Given the description of an element on the screen output the (x, y) to click on. 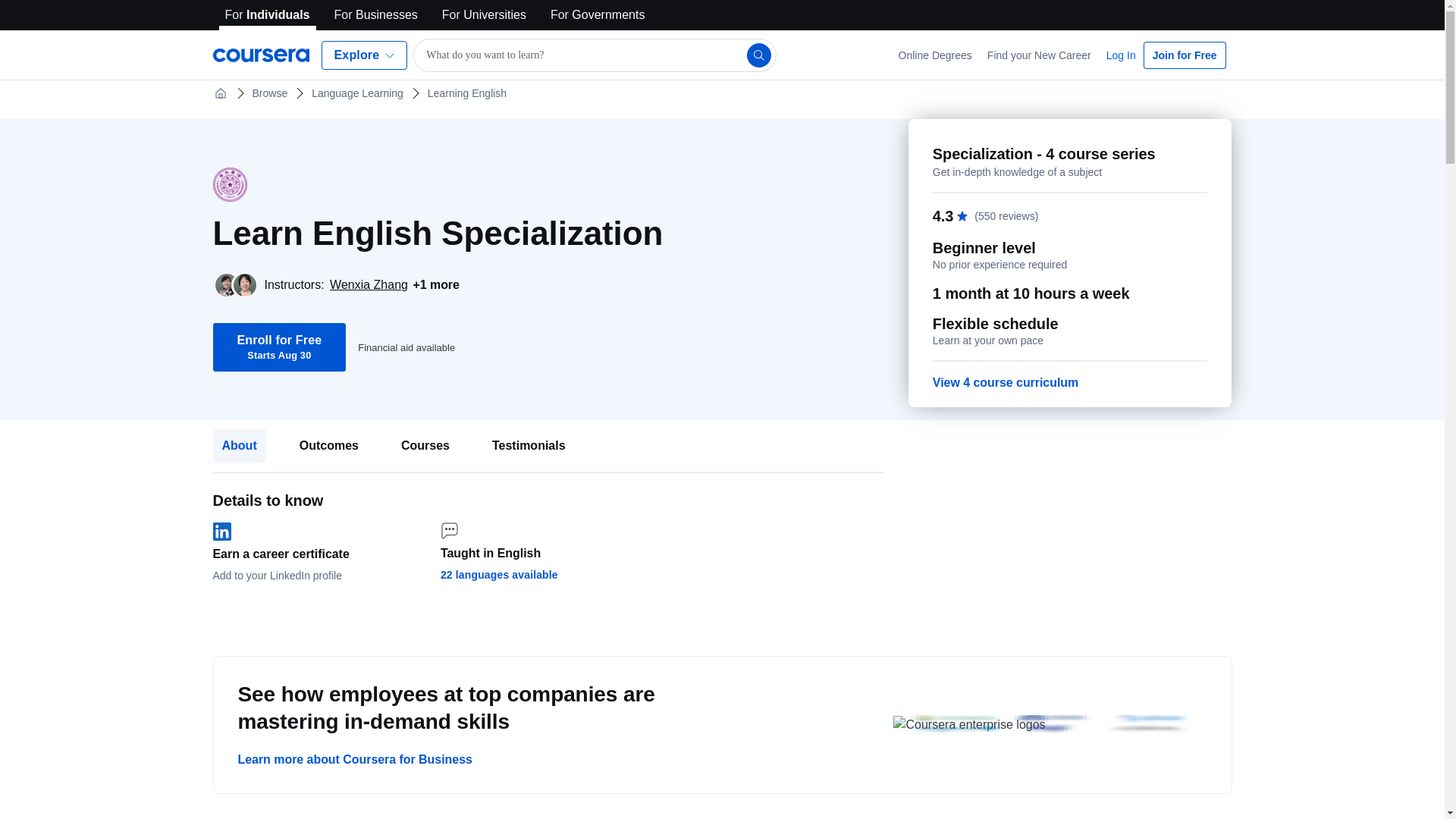
Explore (364, 54)
For Universities (483, 15)
View 4 course curriculum (1005, 382)
About (238, 445)
Courses (279, 346)
Log In (424, 445)
Financial aid available (1120, 54)
For Individuals (406, 347)
Wenxia Zhang (266, 15)
